Given the description of an element on the screen output the (x, y) to click on. 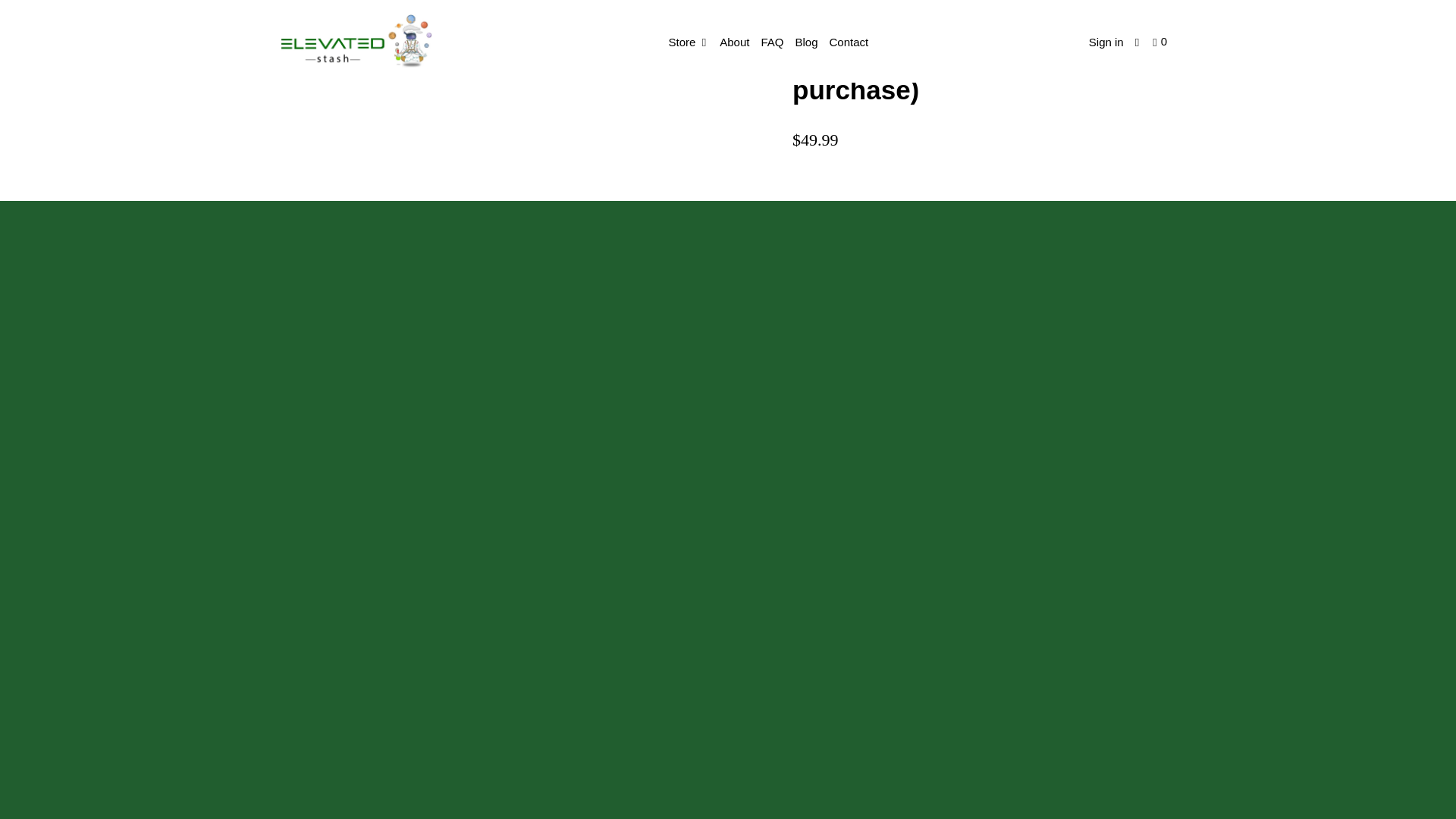
0 (1161, 42)
FAQ (771, 41)
Search (1138, 42)
Elevated Stash (358, 41)
Store   (688, 42)
My Account  (1106, 41)
Sign in (1106, 41)
Contact (849, 41)
About (734, 41)
Blog (806, 41)
